Given the description of an element on the screen output the (x, y) to click on. 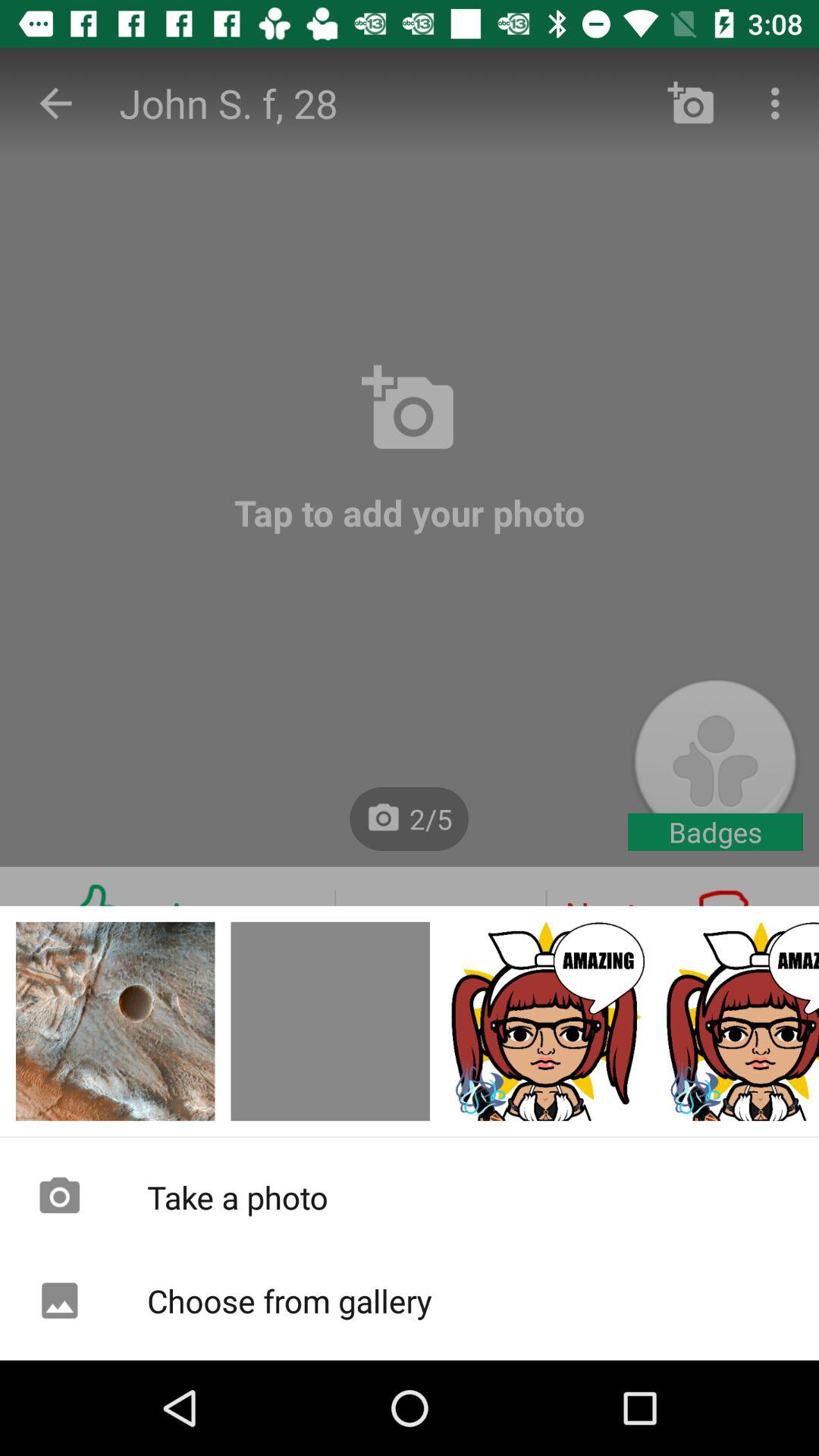
come back (329, 1021)
